Given the description of an element on the screen output the (x, y) to click on. 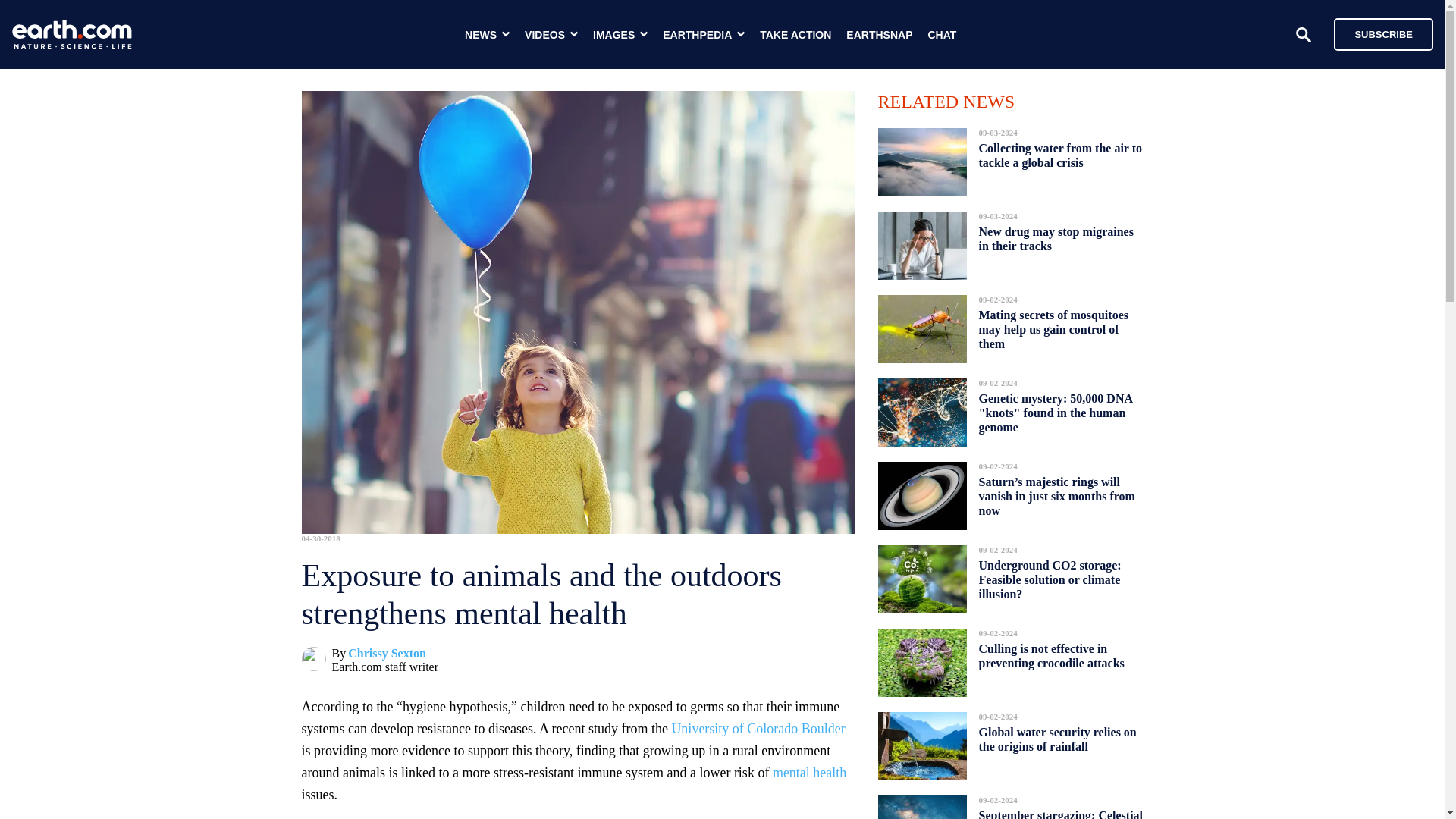
Chrissy Sexton (386, 653)
University of Colorado Boulder (757, 728)
Global water security relies on the origins of rainfall (1056, 739)
TAKE ACTION (795, 34)
EARTHSNAP (878, 34)
SUBSCRIBE (1375, 33)
Collecting water from the air to tackle a global crisis (1059, 155)
